Given the description of an element on the screen output the (x, y) to click on. 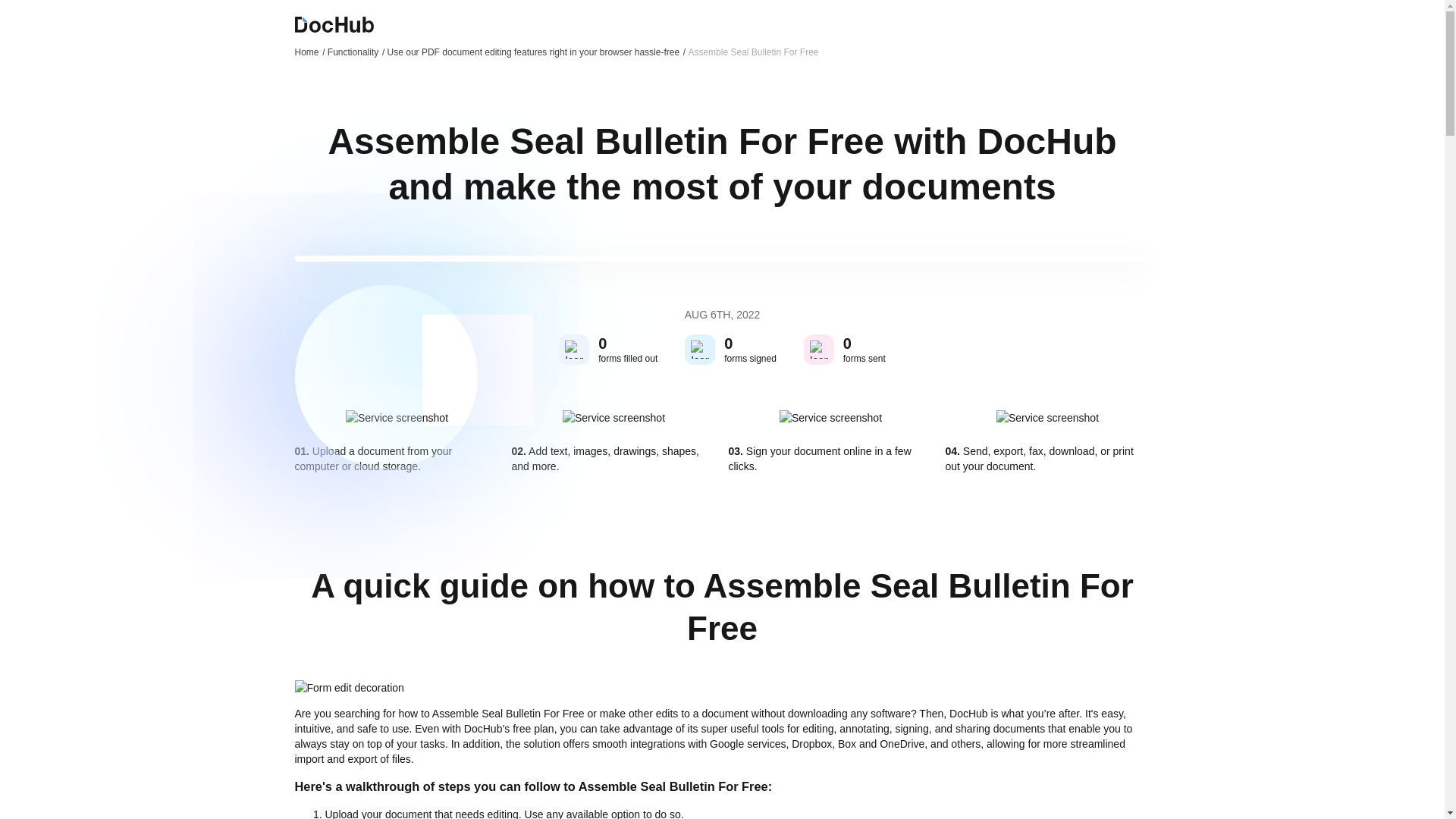
Functionality (355, 51)
Home (309, 51)
